Given the description of an element on the screen output the (x, y) to click on. 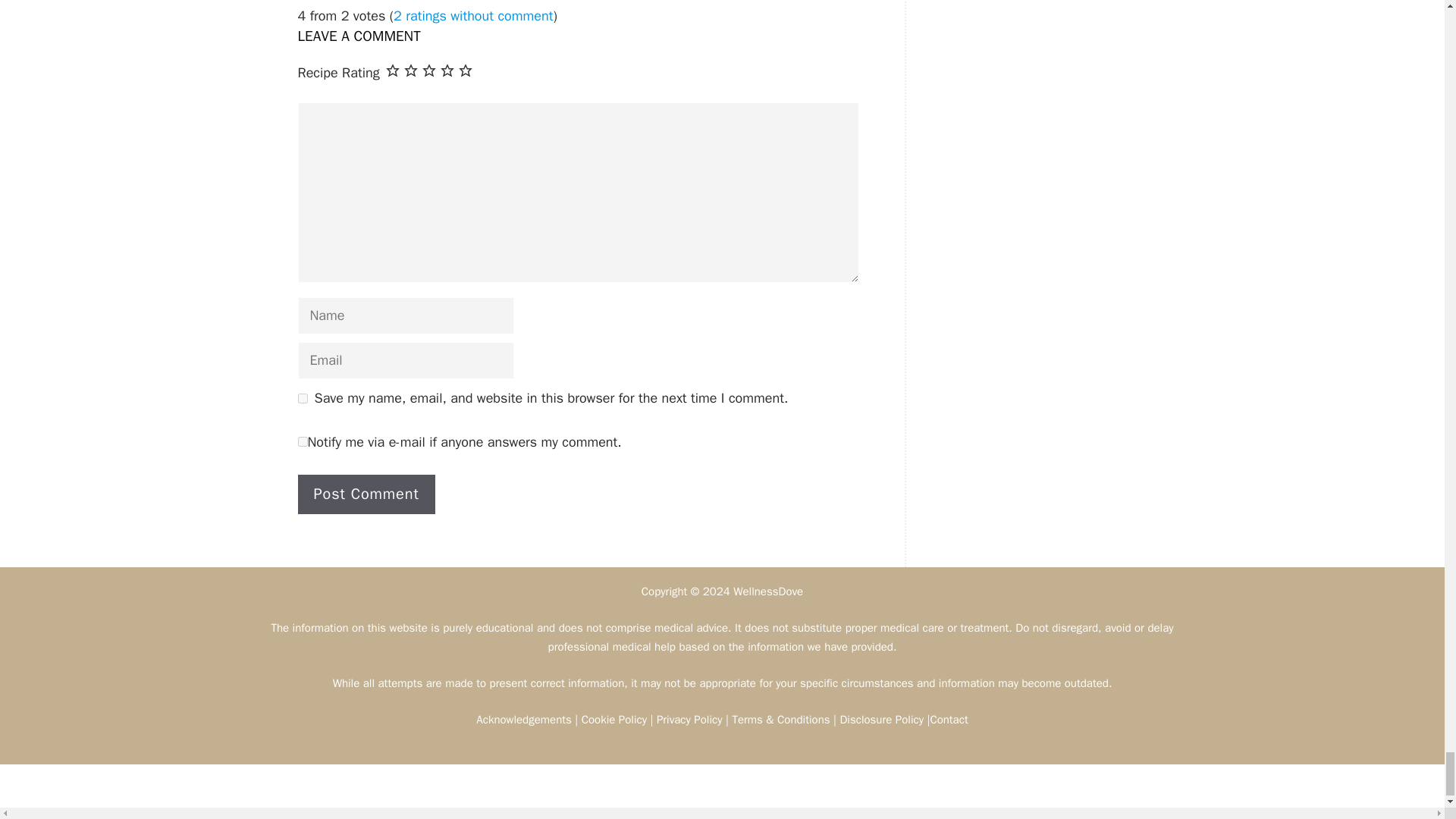
Post Comment (365, 494)
yes (302, 398)
on (302, 441)
